Given the description of an element on the screen output the (x, y) to click on. 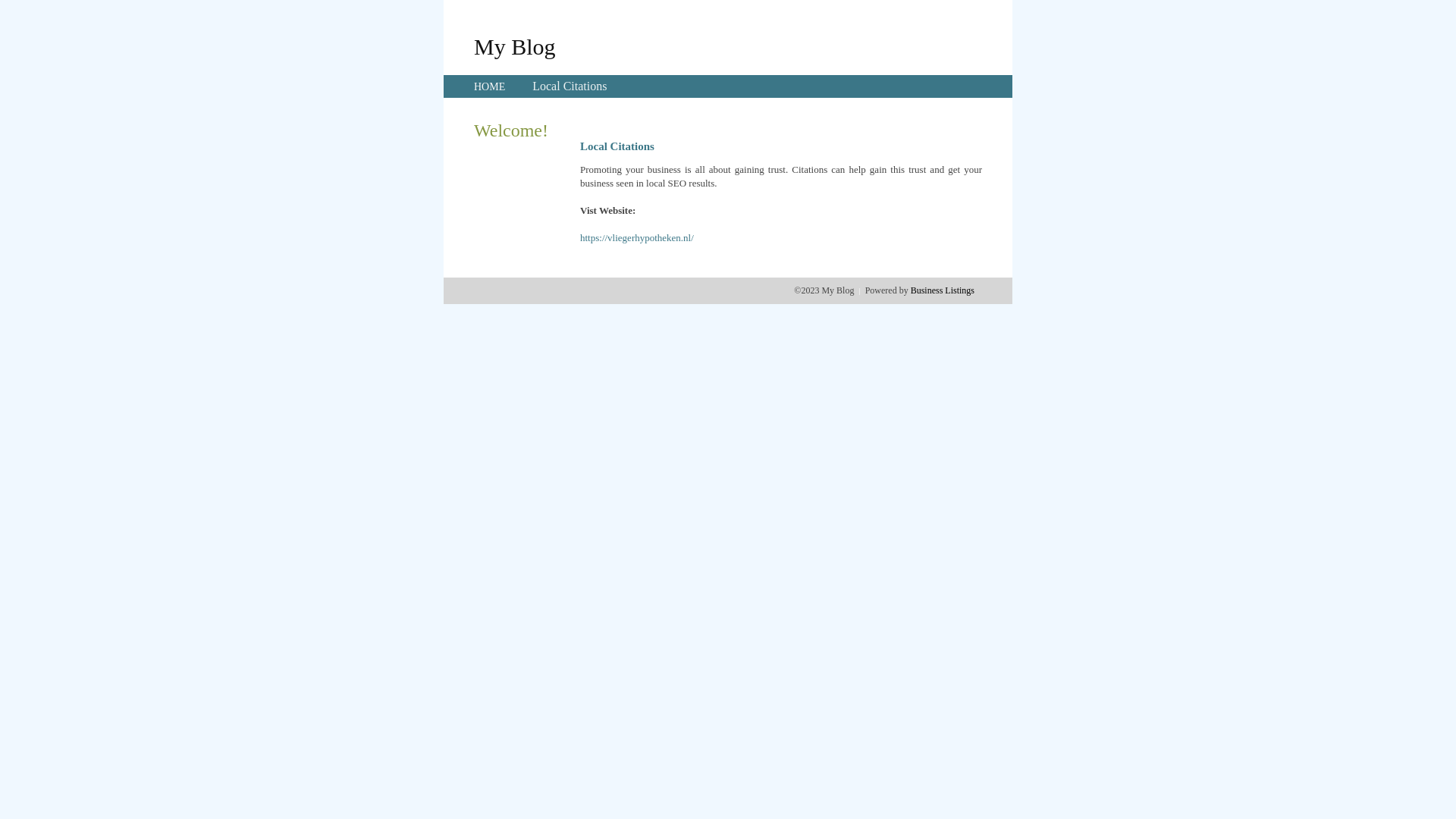
My Blog Element type: text (514, 46)
HOME Element type: text (489, 86)
https://vliegerhypotheken.nl/ Element type: text (636, 237)
Business Listings Element type: text (942, 290)
Local Citations Element type: text (569, 85)
